Given the description of an element on the screen output the (x, y) to click on. 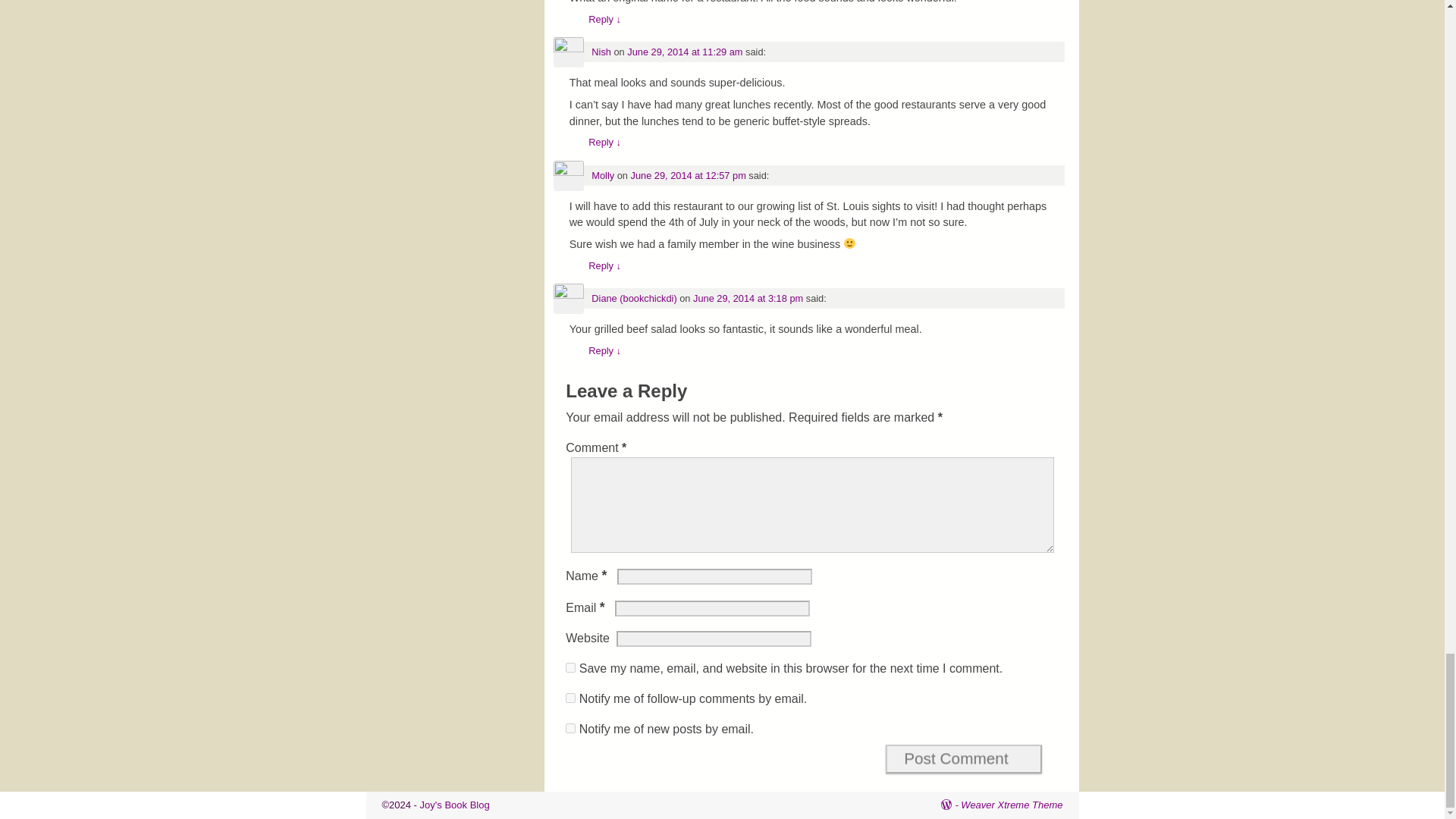
Post Comment (963, 758)
subscribe (570, 697)
subscribe (570, 728)
yes (570, 667)
